Given the description of an element on the screen output the (x, y) to click on. 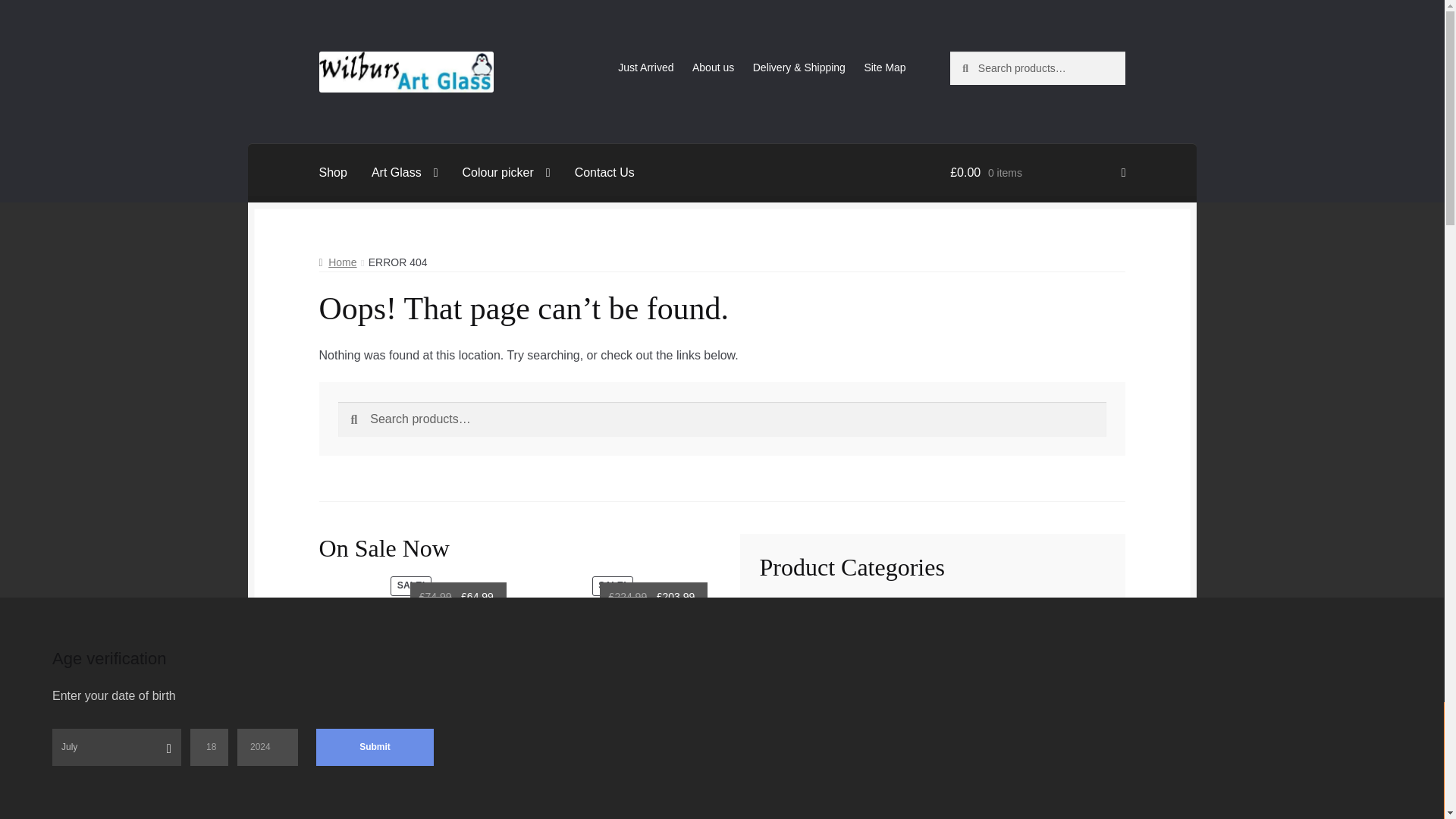
About us (713, 67)
Art Glass (404, 172)
Colour picker (505, 172)
Shop (333, 172)
Site Map (884, 67)
18 (209, 746)
2024 (267, 746)
Just Arrived (645, 67)
View your shopping basket (1037, 172)
Contact Us (604, 172)
